Given the description of an element on the screen output the (x, y) to click on. 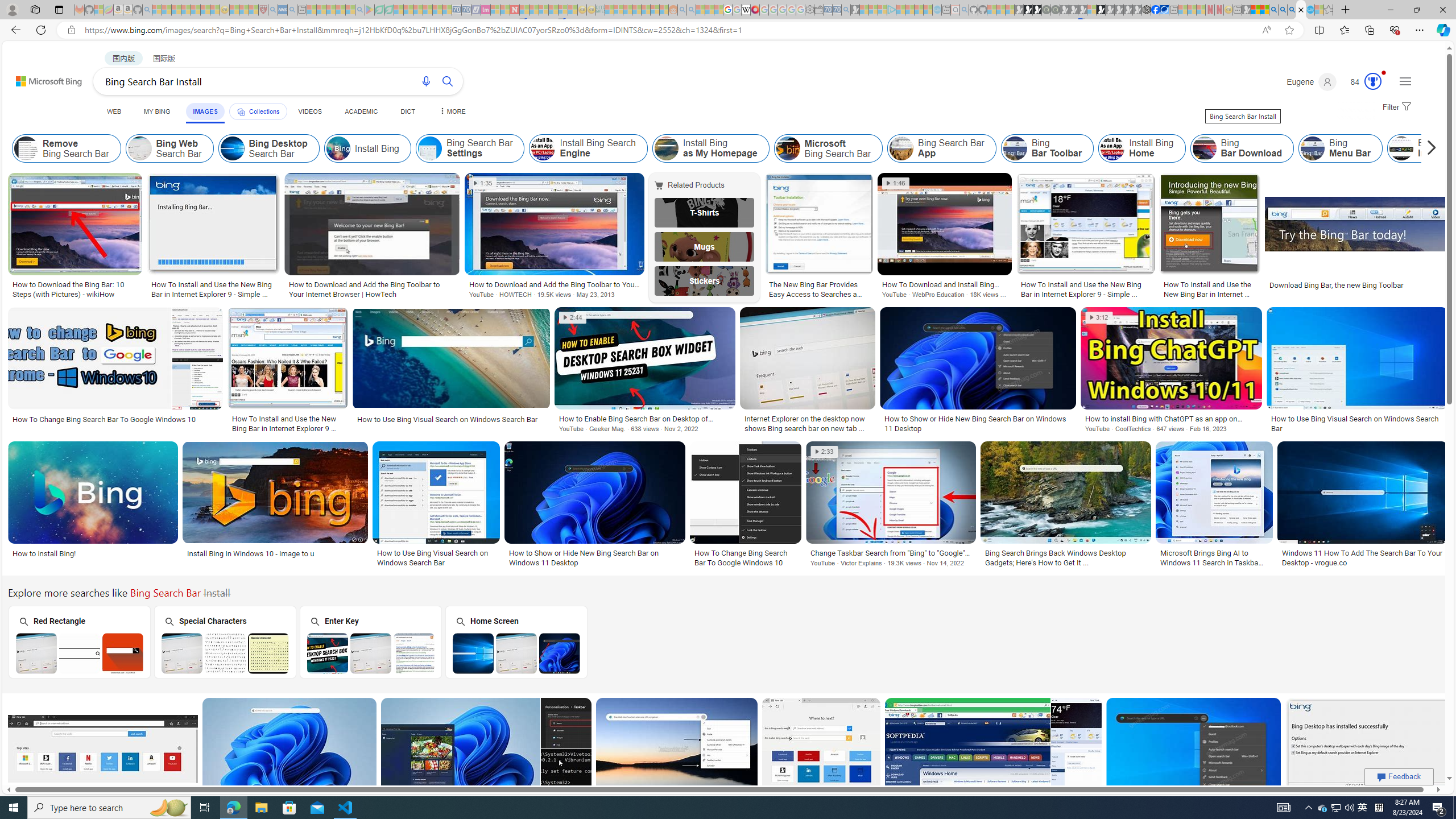
Bing Search Bar Special Characters (224, 652)
Settings and quick links (1404, 80)
WEB (114, 111)
Enter Key (370, 641)
Bing Search Bar Settings (470, 148)
Install Bing In Windows 10 - Image to u (250, 552)
2:33 (824, 452)
